Given the description of an element on the screen output the (x, y) to click on. 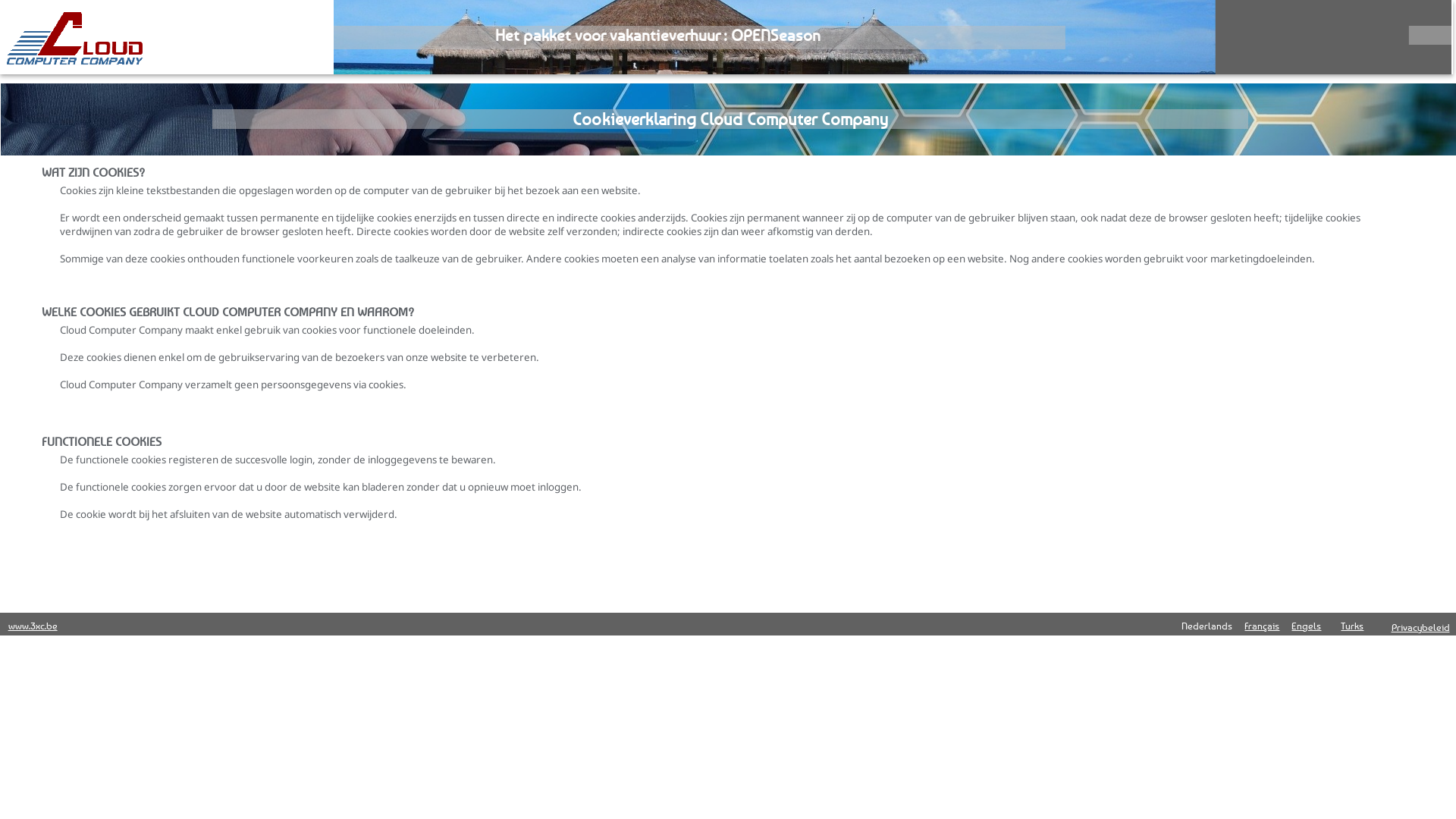
Nederlands Element type: text (1206, 625)
www.3xc.be Element type: text (32, 625)
Turks Element type: text (1351, 625)
Privacybeleid Element type: text (1419, 627)
Engels Element type: text (1306, 625)
